Given the description of an element on the screen output the (x, y) to click on. 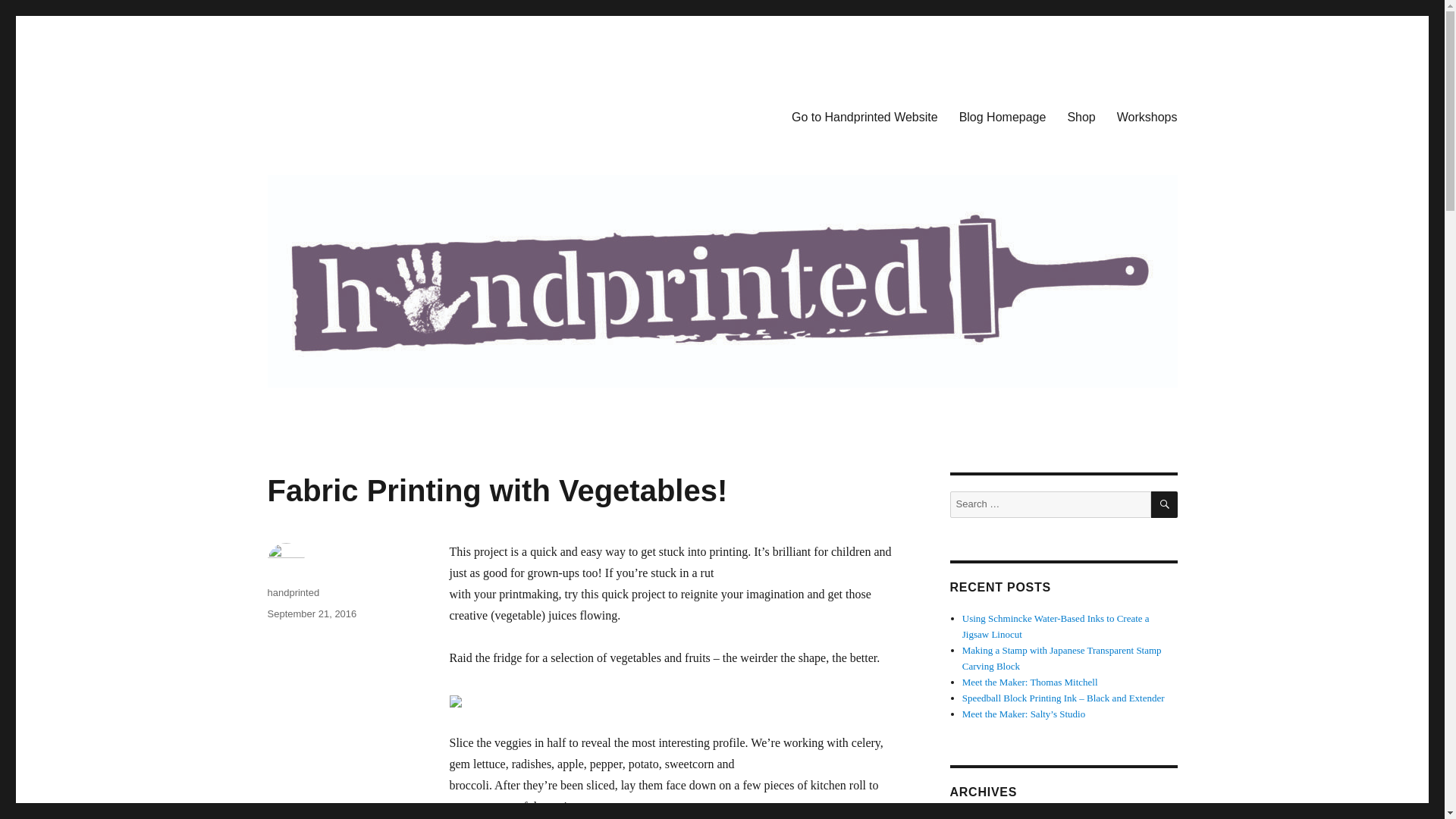
SEARCH (1164, 504)
Shop (1081, 116)
September 21, 2016 (311, 613)
Making a Stamp with Japanese Transparent Stamp Carving Block (1061, 657)
Workshops (1147, 116)
Go to Handprinted Website (864, 116)
Using Schmincke Water-Based Inks to Create a Jigsaw Linocut (1056, 625)
handprinted (292, 592)
Blog Homepage (1003, 116)
Meet the Maker: Thomas Mitchell (1029, 681)
